Given the description of an element on the screen output the (x, y) to click on. 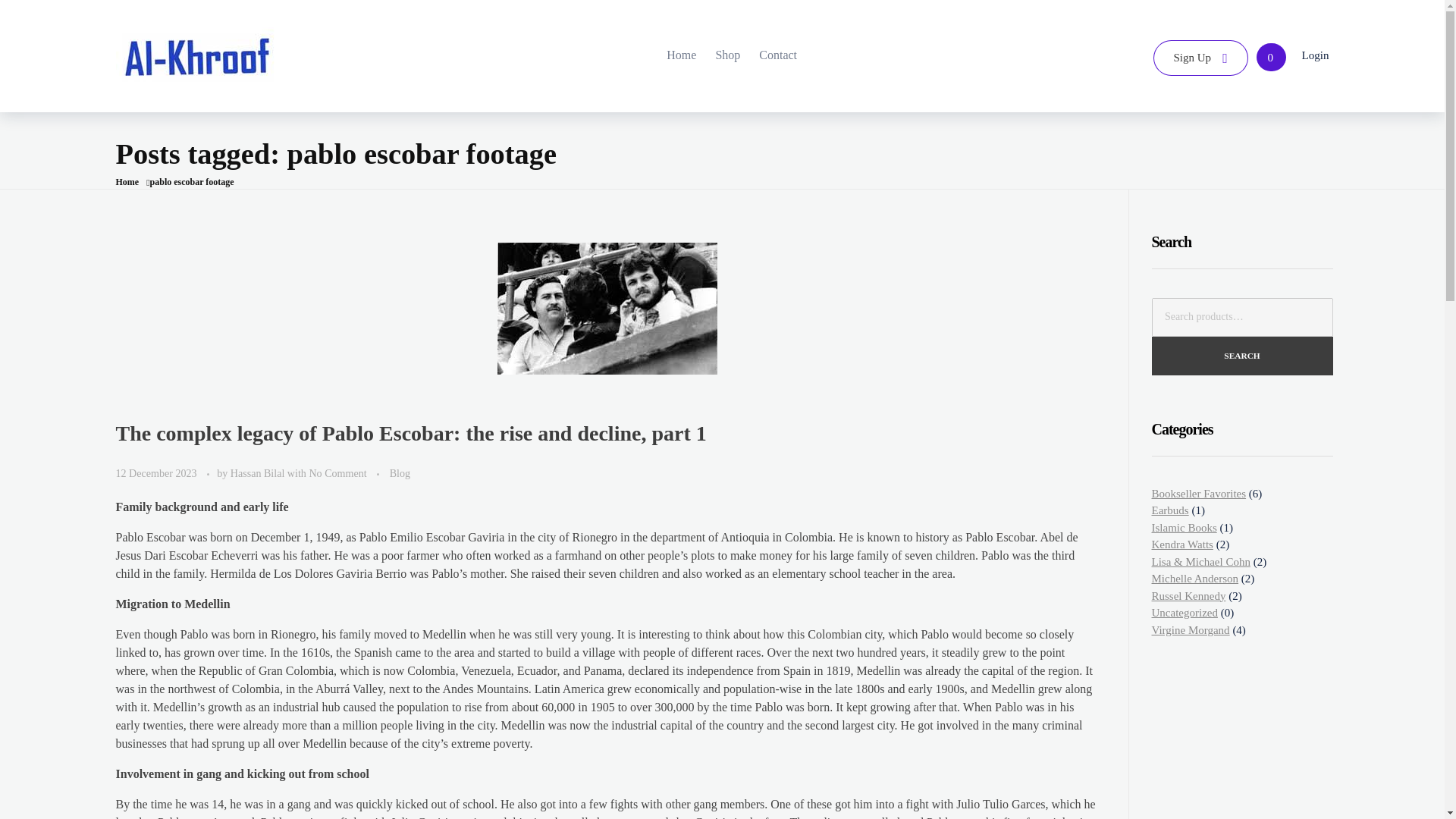
alkhroof.com (197, 53)
View all posts by Hassan Bilal (258, 472)
Blog (400, 473)
Shop (716, 54)
Bookseller Favorites (1198, 493)
Russel Kennedy (1188, 595)
alkhroof.com (171, 100)
Hassan Bilal (258, 472)
Kendra Watts (1181, 544)
Virgine Morgand (1189, 630)
Uncategorized (1184, 612)
Home (126, 181)
Contact (769, 54)
Earbuds (1169, 510)
